Given the description of an element on the screen output the (x, y) to click on. 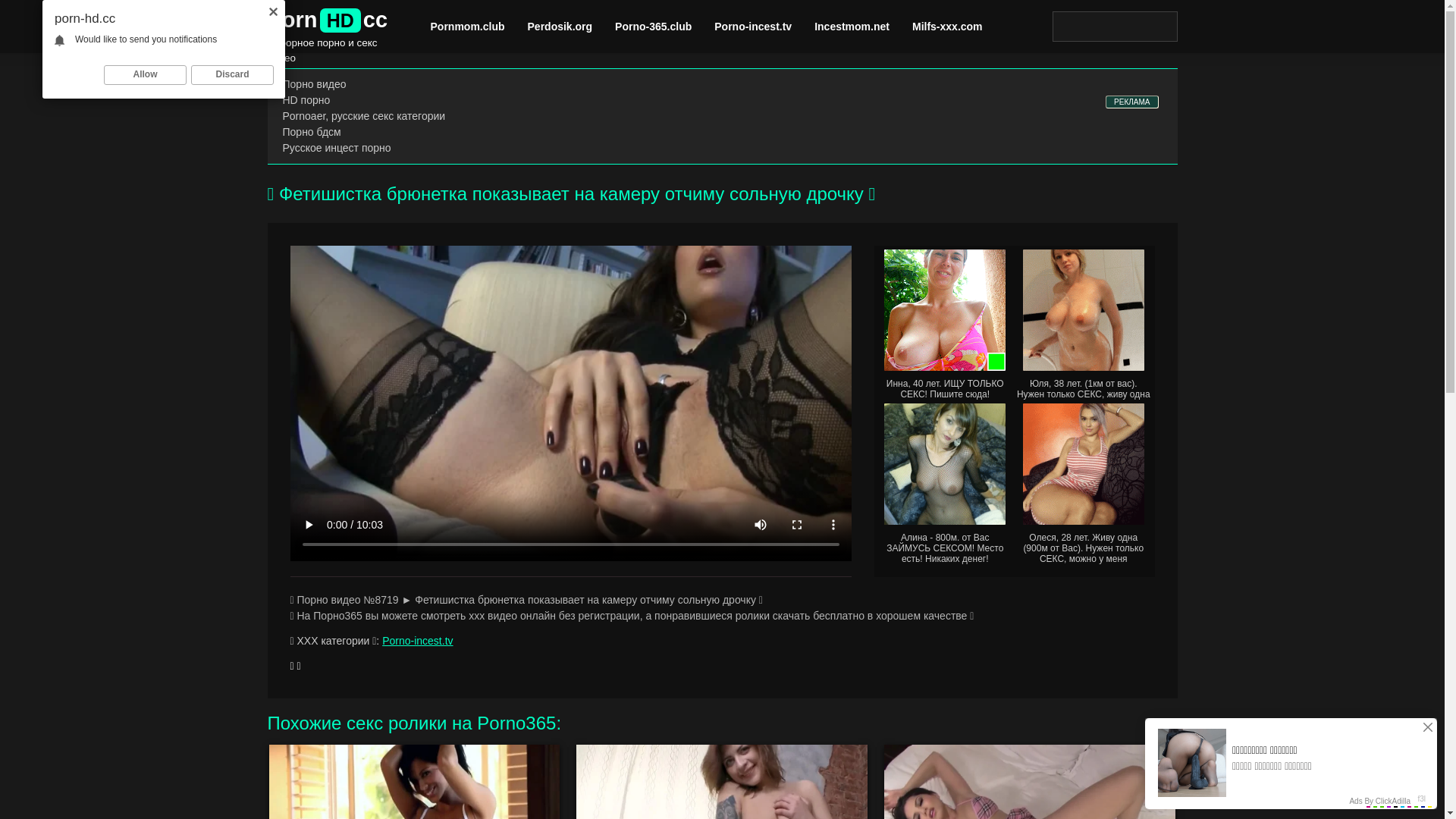
Porno-incest.tv Element type: text (752, 26)
Perdosik.org Element type: text (560, 26)
Milfs-xxx.com Element type: text (947, 26)
Porno-incest.tv Element type: text (417, 640)
Incestmom.net Element type: text (851, 26)
Porno-365.club Element type: text (653, 26)
Pornmom.club Element type: text (467, 26)
